Given the description of an element on the screen output the (x, y) to click on. 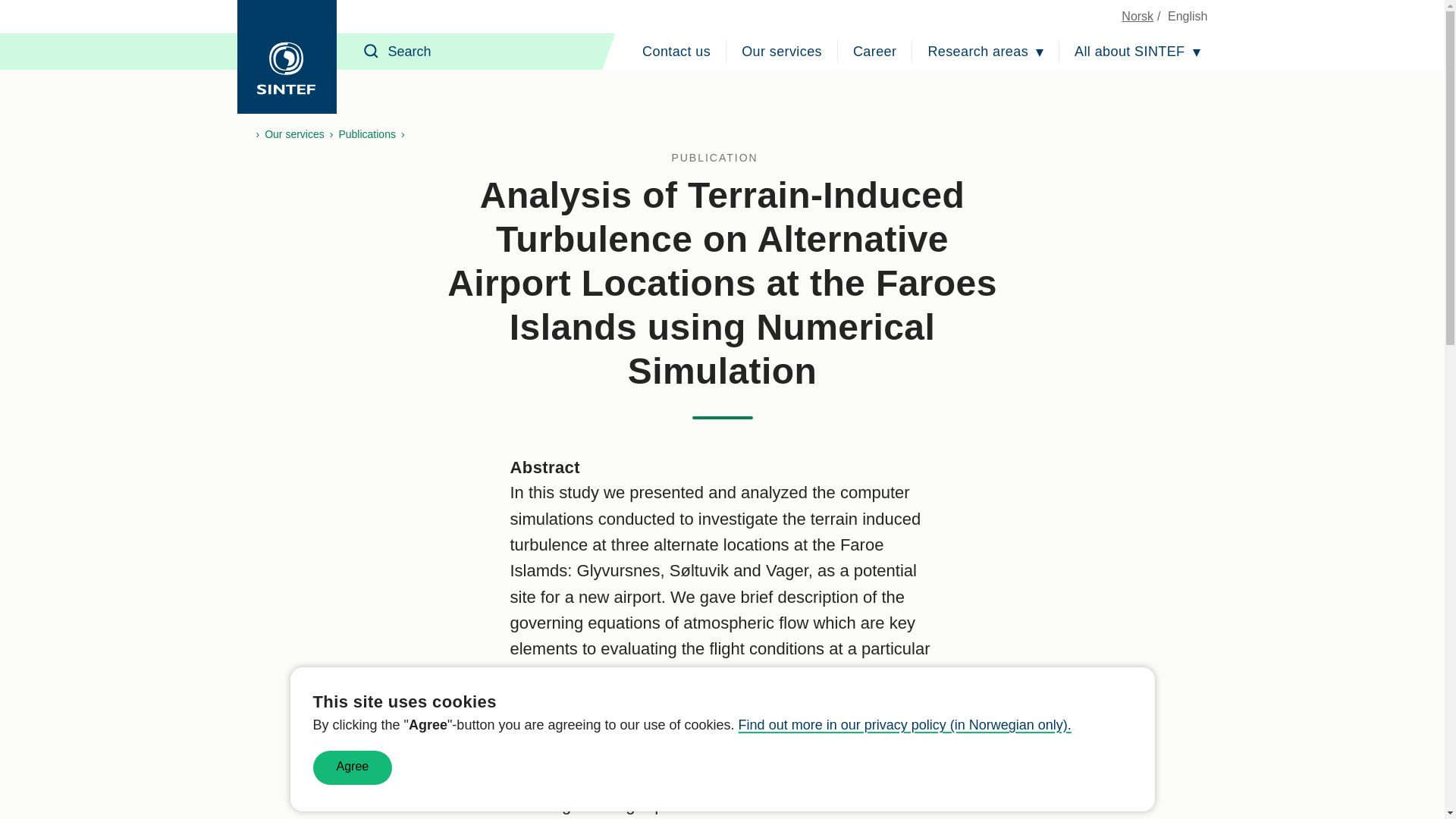
All about SINTEF (1137, 51)
Contact us (675, 51)
Career (874, 51)
All publications (722, 157)
Norsk (1137, 16)
Our services (781, 51)
Research areas (985, 51)
